Given the description of an element on the screen output the (x, y) to click on. 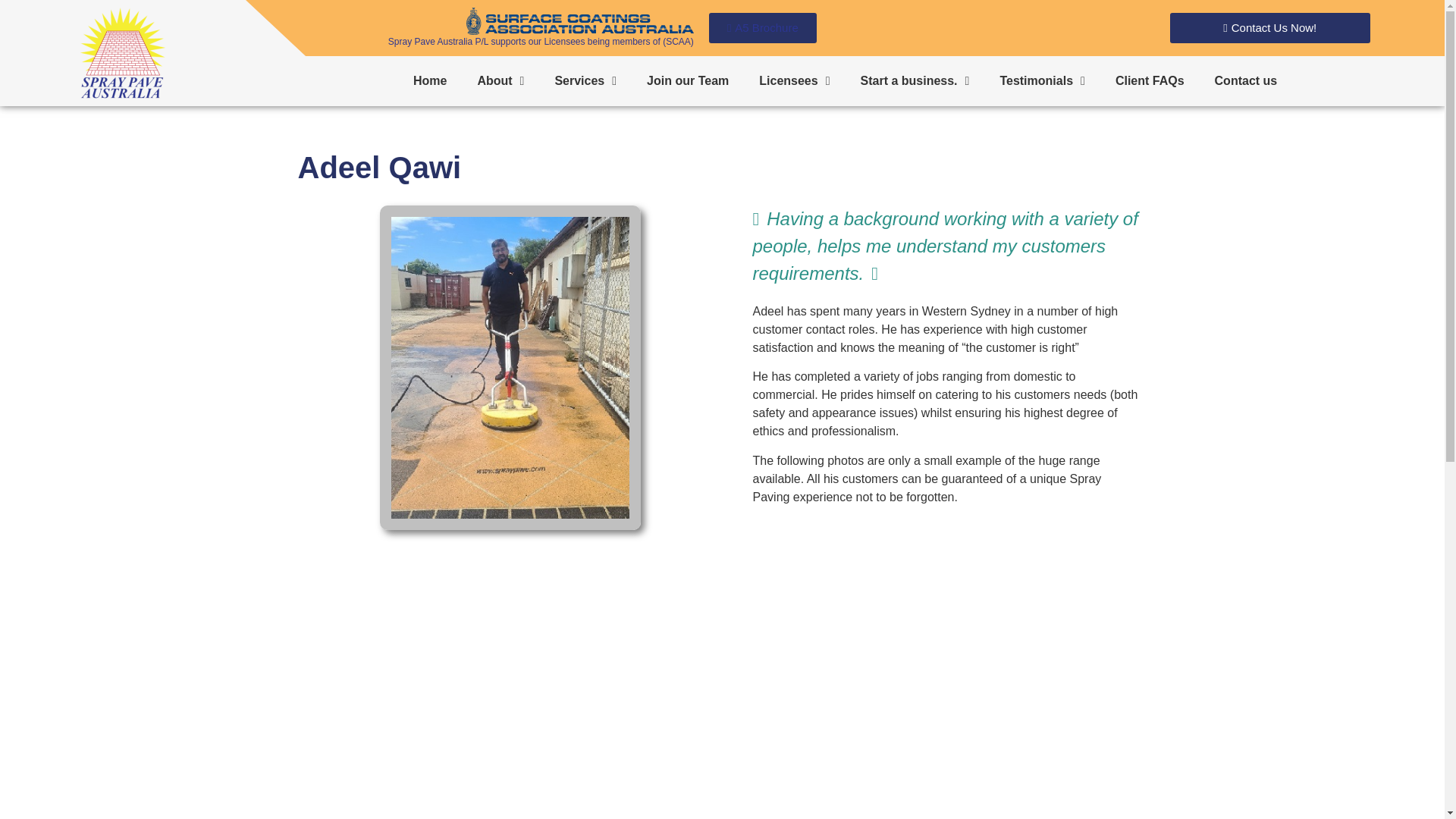
Contact Us Now! (1270, 28)
Home (429, 80)
Licensees (794, 80)
Start a business. (915, 80)
spray-pave-logo-new (122, 52)
scaa (579, 21)
Services (584, 80)
A5 Brochure (762, 28)
Testimonials (1041, 80)
About (499, 80)
